Given the description of an element on the screen output the (x, y) to click on. 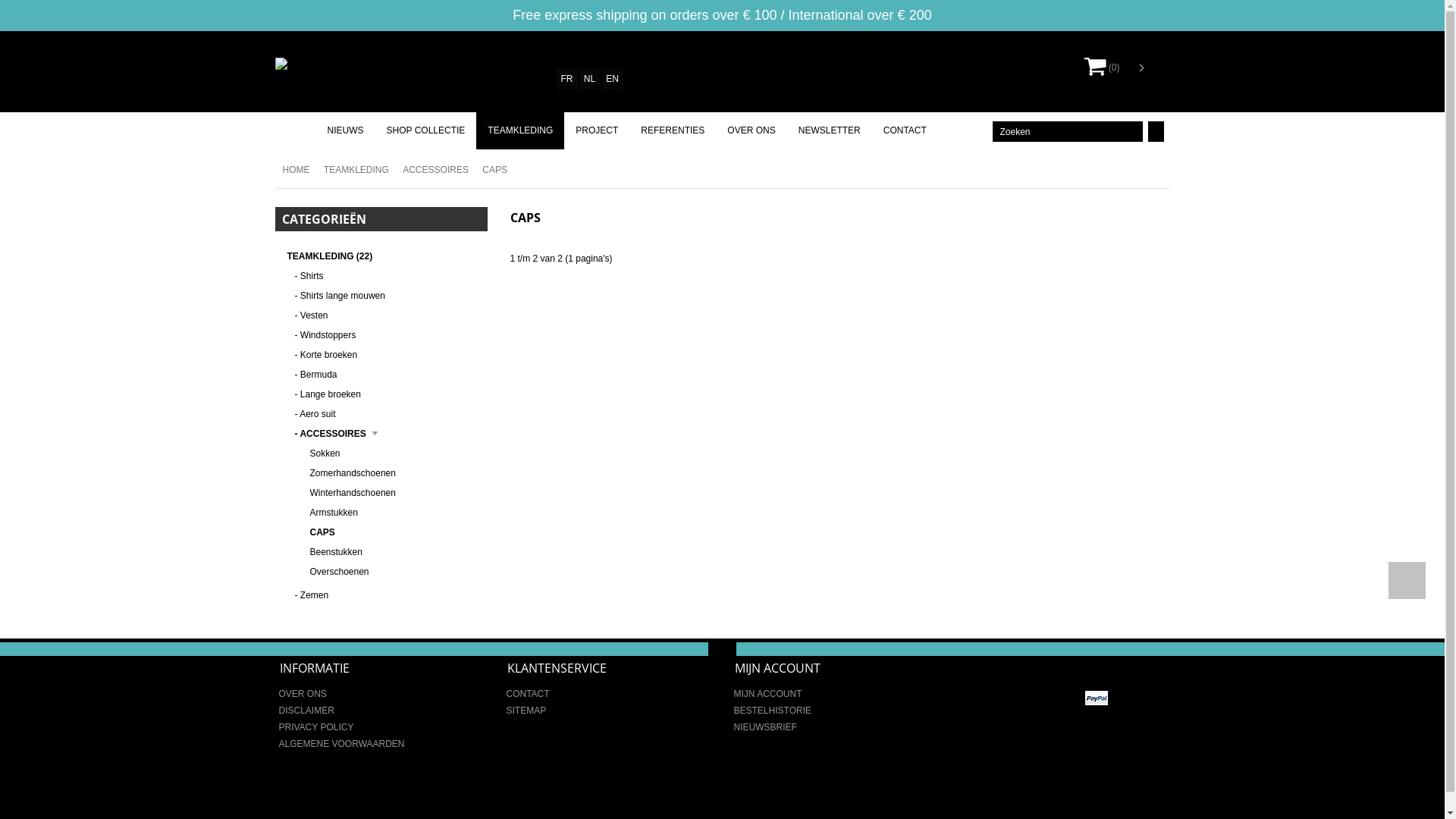
Winterhandschoenen Element type: text (391, 492)
Sokken Element type: text (391, 453)
REFERENTIES Element type: text (672, 130)
CONTACT Element type: text (905, 130)
NL Element type: text (589, 79)
DISCLAIMER Element type: text (306, 710)
OVER ONS Element type: text (302, 693)
ACCESSOIRES Element type: text (431, 169)
Zoeken Element type: text (1066, 131)
- Vesten Element type: text (385, 315)
Beenstukken Element type: text (391, 552)
- Aero suit Element type: text (385, 413)
CAPS Element type: text (391, 532)
- ACCESSOIRES Element type: text (385, 433)
NEWSLETTER Element type: text (829, 130)
Instagram Element type: hover (1151, 665)
SHOP COLLECTIE Element type: text (425, 130)
- Shirts Element type: text (385, 275)
- Zemen Element type: text (385, 595)
BESTELHISTORIE Element type: text (772, 710)
EN Element type: text (612, 79)
TEAMKLEDING (22) Element type: text (329, 256)
TEAMKLEDING Element type: text (352, 169)
- Bermuda Element type: text (385, 374)
CONTACT Element type: text (527, 693)
Armstukken Element type: text (391, 512)
- Windstoppers Element type: text (385, 335)
SITEMAP Element type: text (526, 710)
PRIVACY POLICY Element type: text (316, 726)
FR Element type: text (566, 79)
- Shirts lange mouwen Element type: text (385, 295)
TEAMKLEDING Element type: text (520, 130)
CAPS Element type: text (490, 169)
OVER ONS Element type: text (750, 130)
see more Element type: hover (722, 646)
PROJECT Element type: text (596, 130)
HOME Element type: text (291, 169)
Zomerhandschoenen Element type: text (391, 473)
Facebook Element type: hover (1129, 665)
- Lange broeken Element type: text (385, 394)
- Korte broeken Element type: text (385, 354)
ALGEMENE VOORWAARDEN Element type: text (341, 743)
B and B Technical Wear Element type: hover (328, 63)
NIEUWSBRIEF Element type: text (765, 726)
MIJN ACCOUNT Element type: text (768, 693)
NIEUWS Element type: text (344, 130)
Overschoenen Element type: text (391, 571)
